Given the description of an element on the screen output the (x, y) to click on. 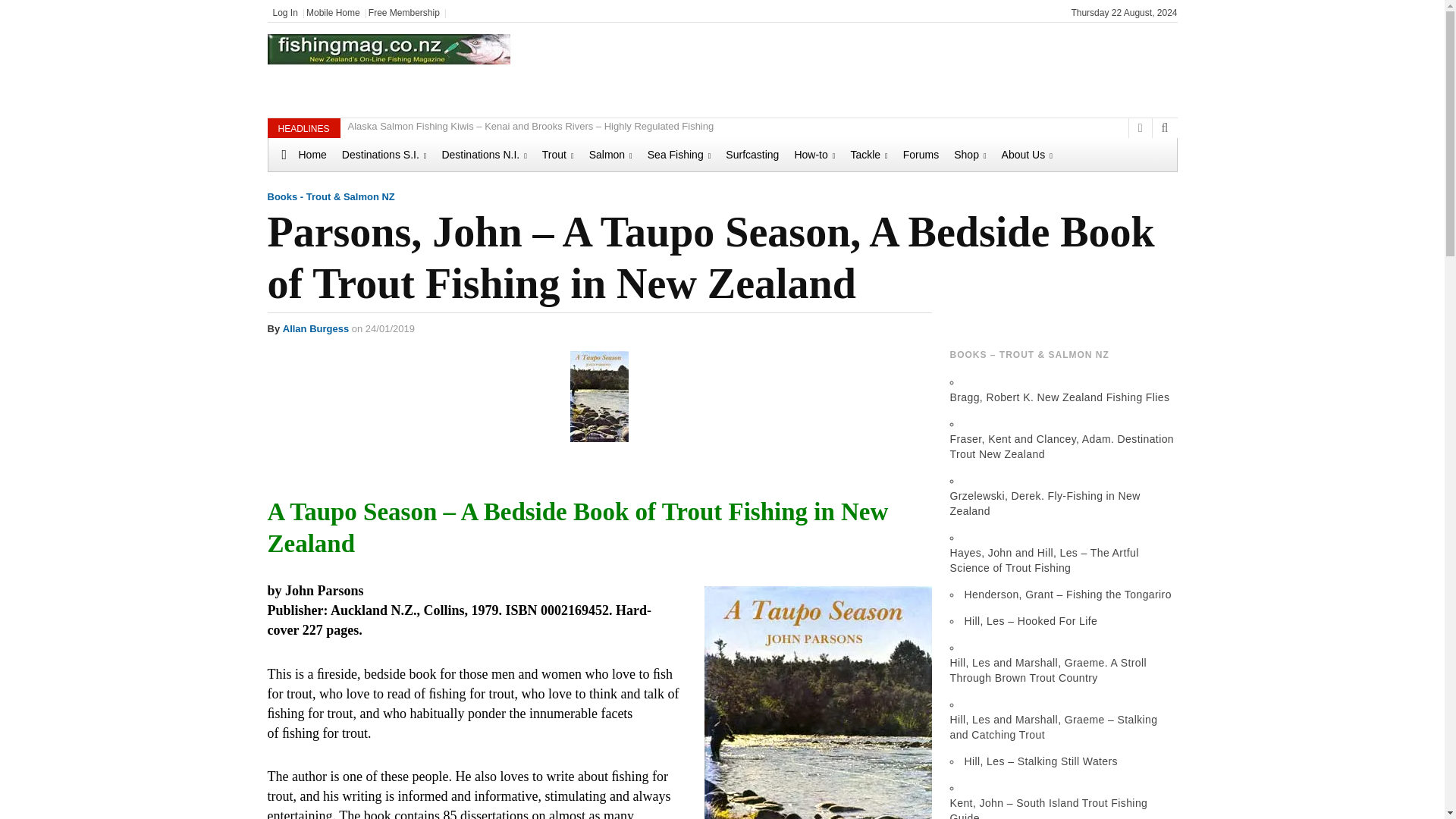
Advertisement (908, 68)
Mobile Home (332, 12)
Posts by Allan Burgess (315, 328)
Free Membership (403, 12)
Log In (285, 12)
parsons-john-a-taupo-season (817, 702)
